Given the description of an element on the screen output the (x, y) to click on. 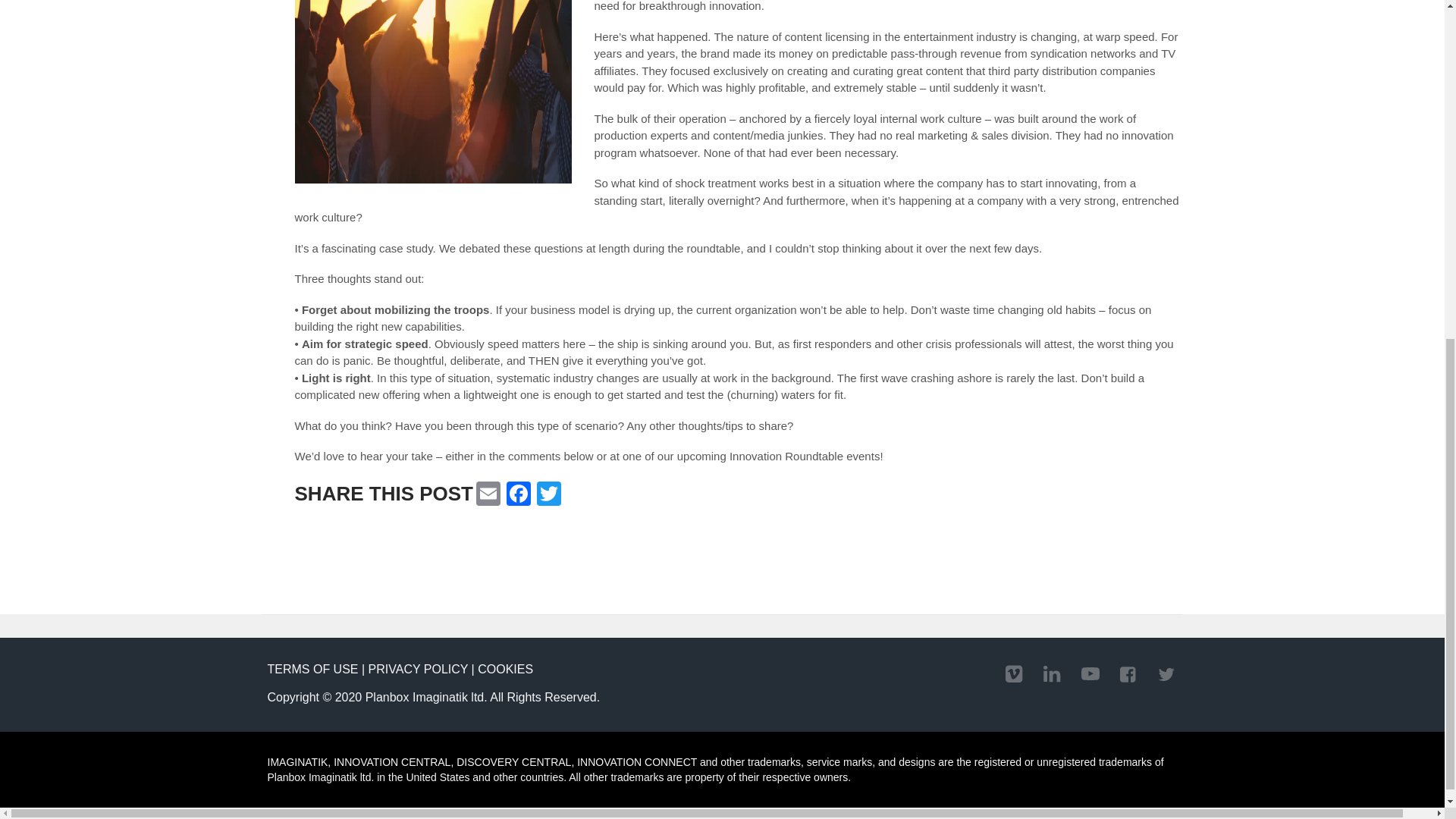
TERMS OF USE (312, 668)
PRIVACY POLICY (418, 668)
COOKIES (504, 668)
